Given the description of an element on the screen output the (x, y) to click on. 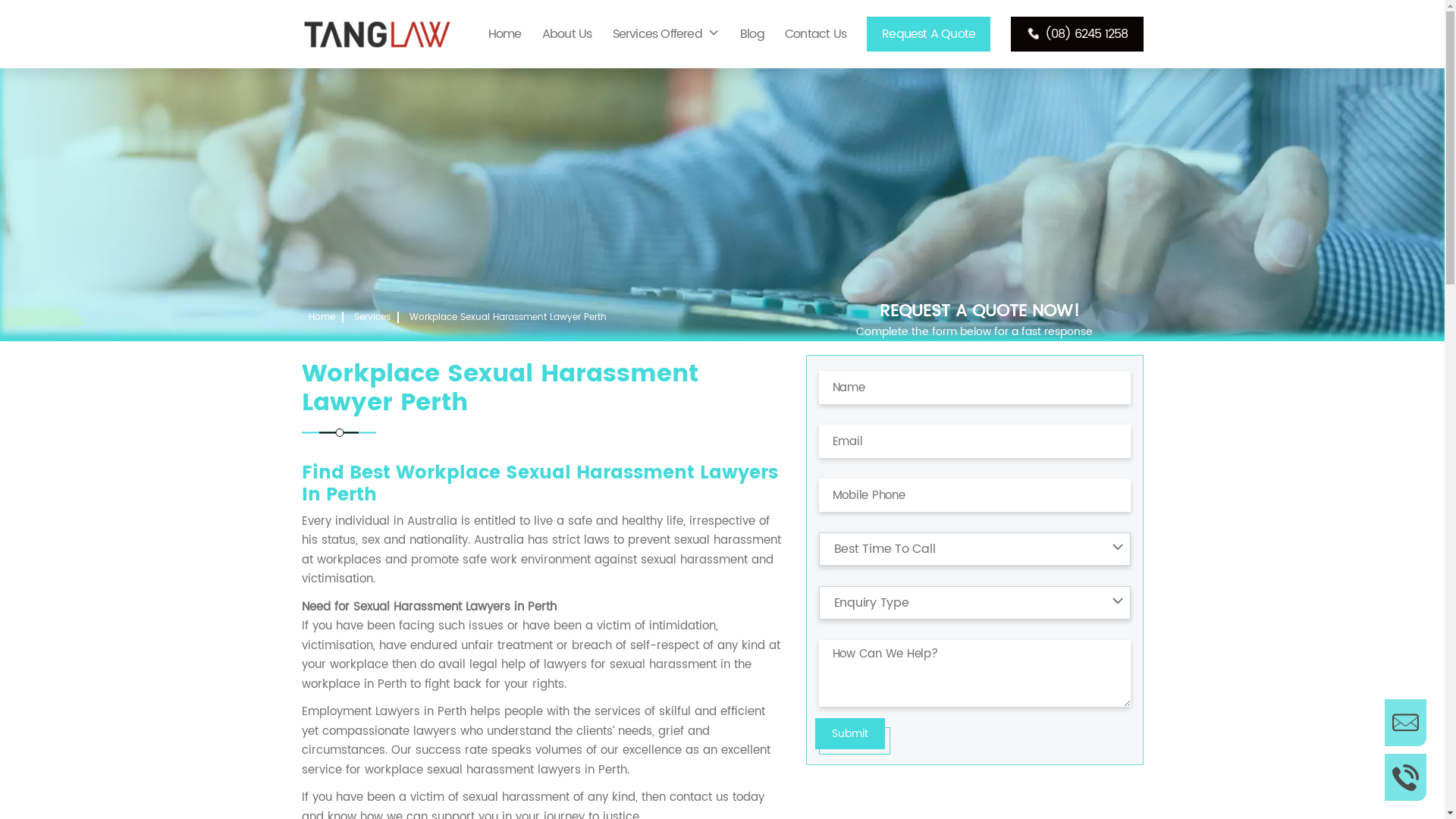
About Us Element type: text (567, 33)
Home Element type: text (320, 317)
Submit Element type: text (849, 733)
Workplace Sexual Harassment Lawyer Perth Element type: text (507, 317)
Services Offered Element type: text (665, 33)
(08) 6245 1258 Element type: text (1076, 33)
Services Element type: text (371, 317)
Contact Us Element type: text (815, 33)
Blog Element type: text (752, 33)
Home Element type: text (504, 33)
Enquire Now Element type: text (1405, 722)
Request A Quote Element type: text (928, 33)
Call Us Now Element type: text (1405, 776)
